Given the description of an element on the screen output the (x, y) to click on. 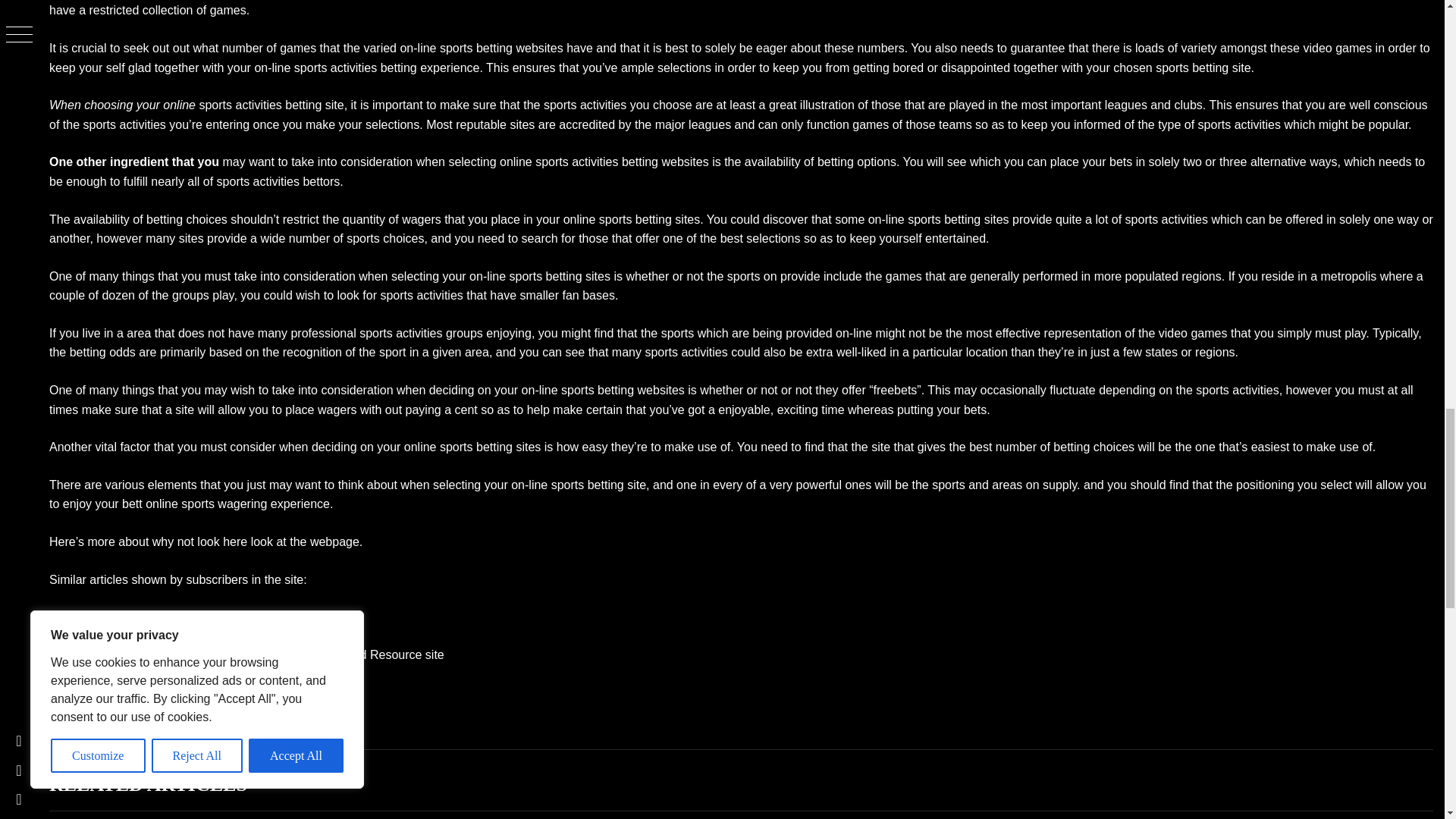
Recommended Resource site (363, 654)
Our website (316, 616)
GENERAL (88, 747)
why not look here (199, 541)
betting choices (1093, 446)
